Given the description of an element on the screen output the (x, y) to click on. 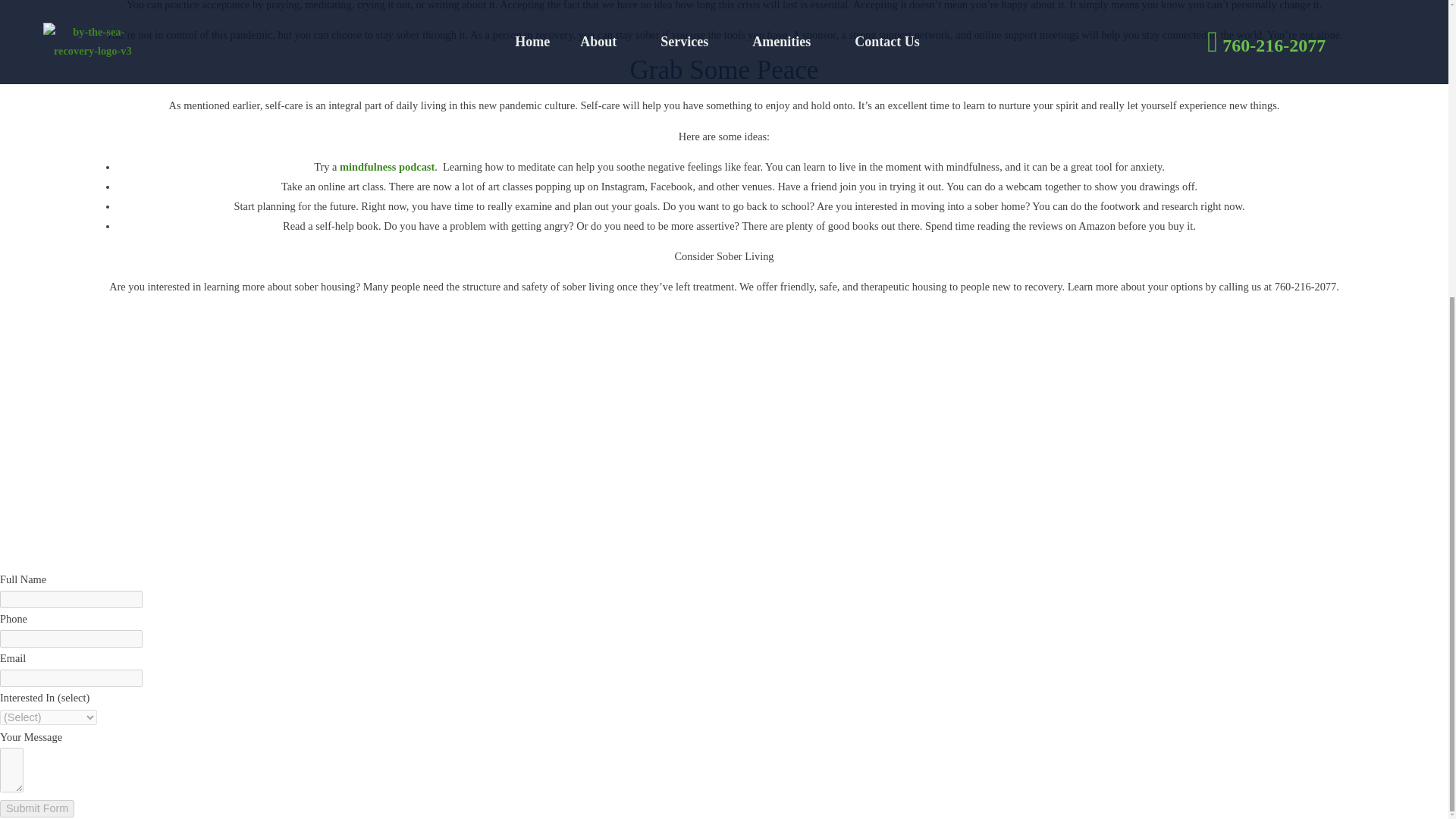
mindfulness podcast (386, 166)
Submit Form (37, 808)
